Given the description of an element on the screen output the (x, y) to click on. 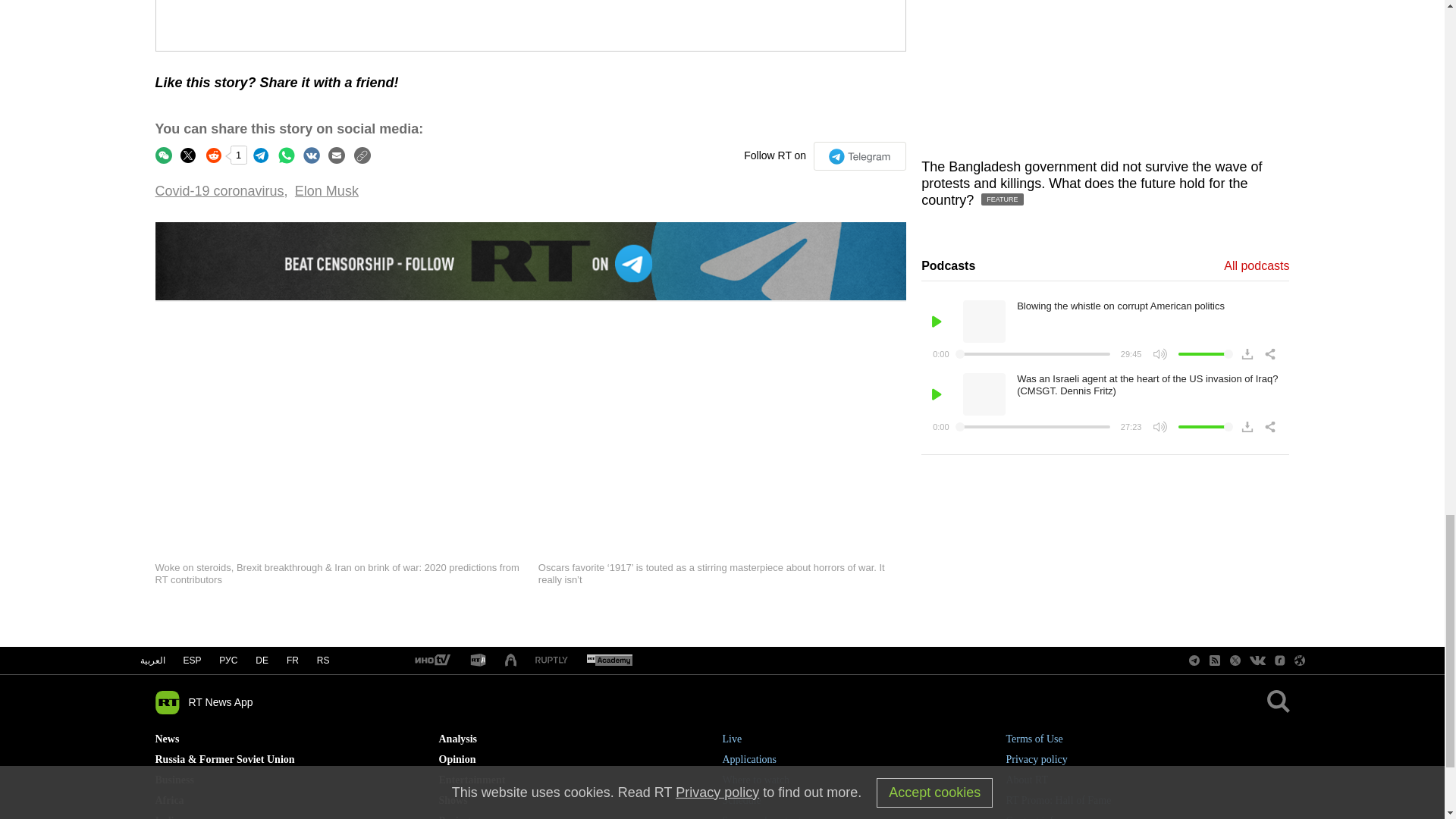
RT  (478, 660)
RT  (551, 660)
RT  (431, 660)
RT  (608, 660)
